Given the description of an element on the screen output the (x, y) to click on. 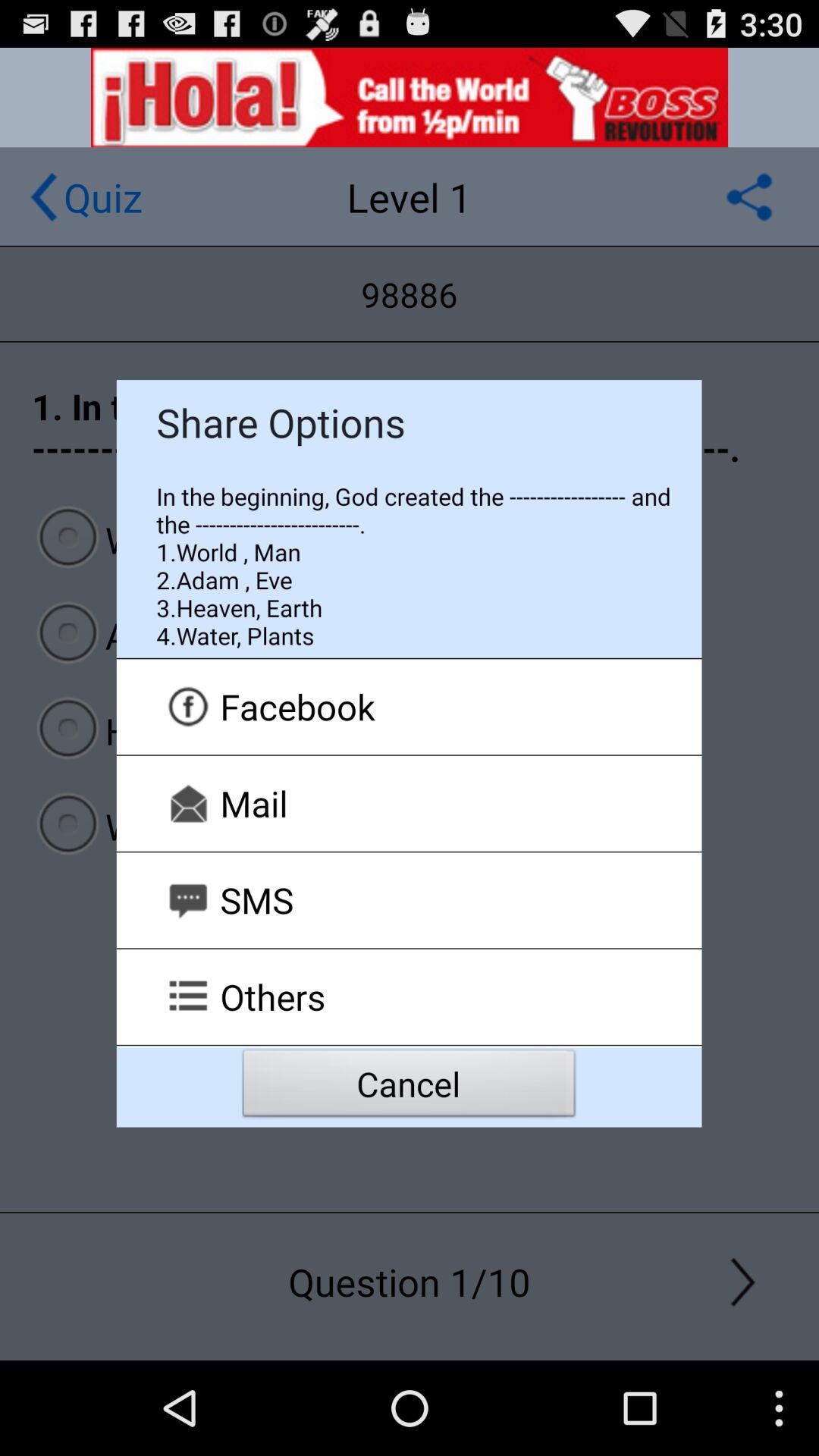
go to previous (43, 196)
